Given the description of an element on the screen output the (x, y) to click on. 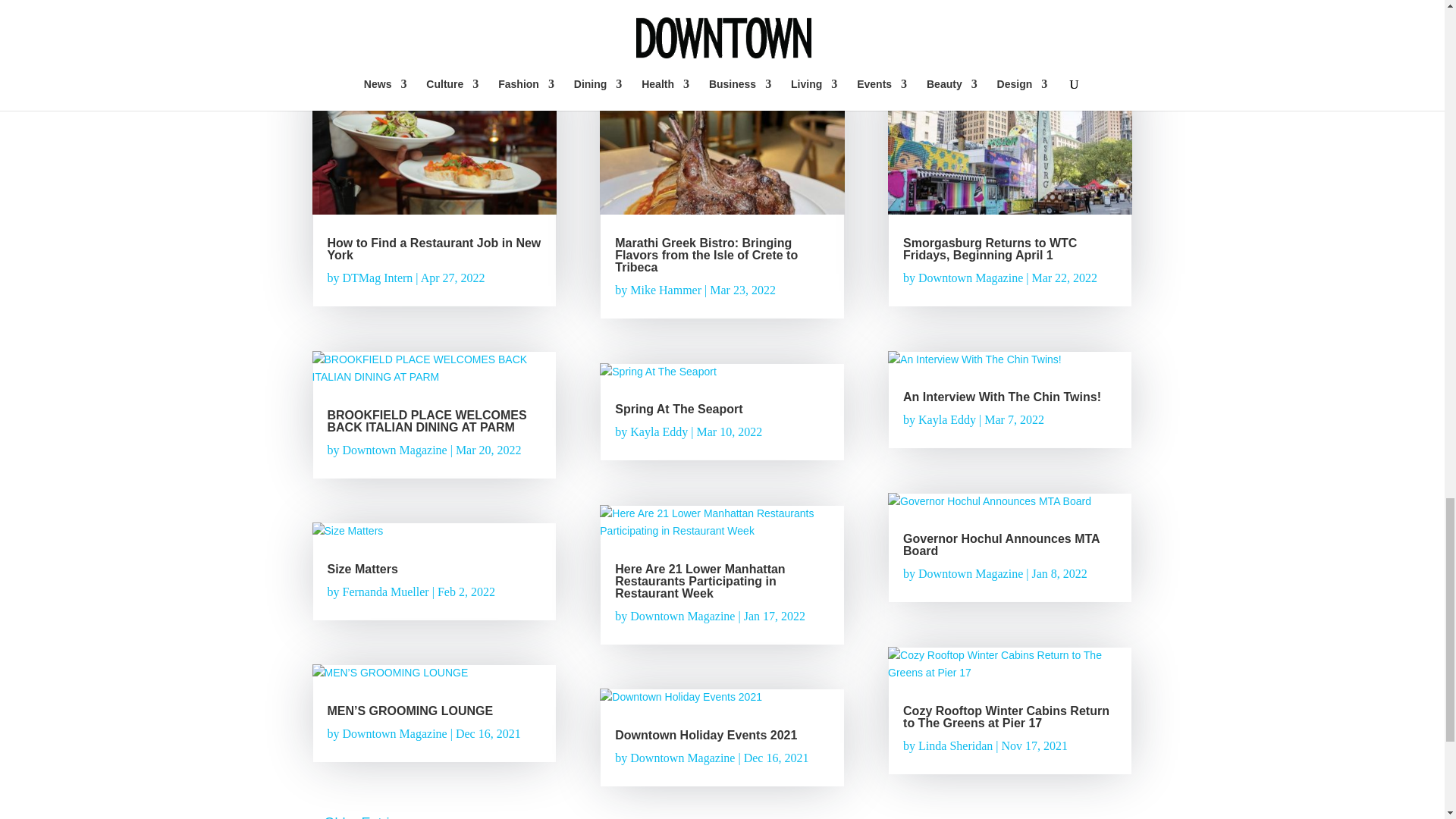
Posts by Mike Hammer (665, 289)
Posts by Downtown Magazine (970, 277)
Posts by Kayla Eddy (658, 431)
Posts by Fernanda Mueller (385, 591)
Posts by Downtown Magazine (682, 615)
Posts by DTMag Intern (377, 277)
Posts by Downtown Magazine (970, 573)
Posts by Downtown Magazine (394, 449)
Posts by Downtown Magazine (394, 733)
Posts by Linda Sheridan (955, 745)
Posts by Downtown Magazine (682, 757)
Posts by Kayla Eddy (946, 419)
